Given the description of an element on the screen output the (x, y) to click on. 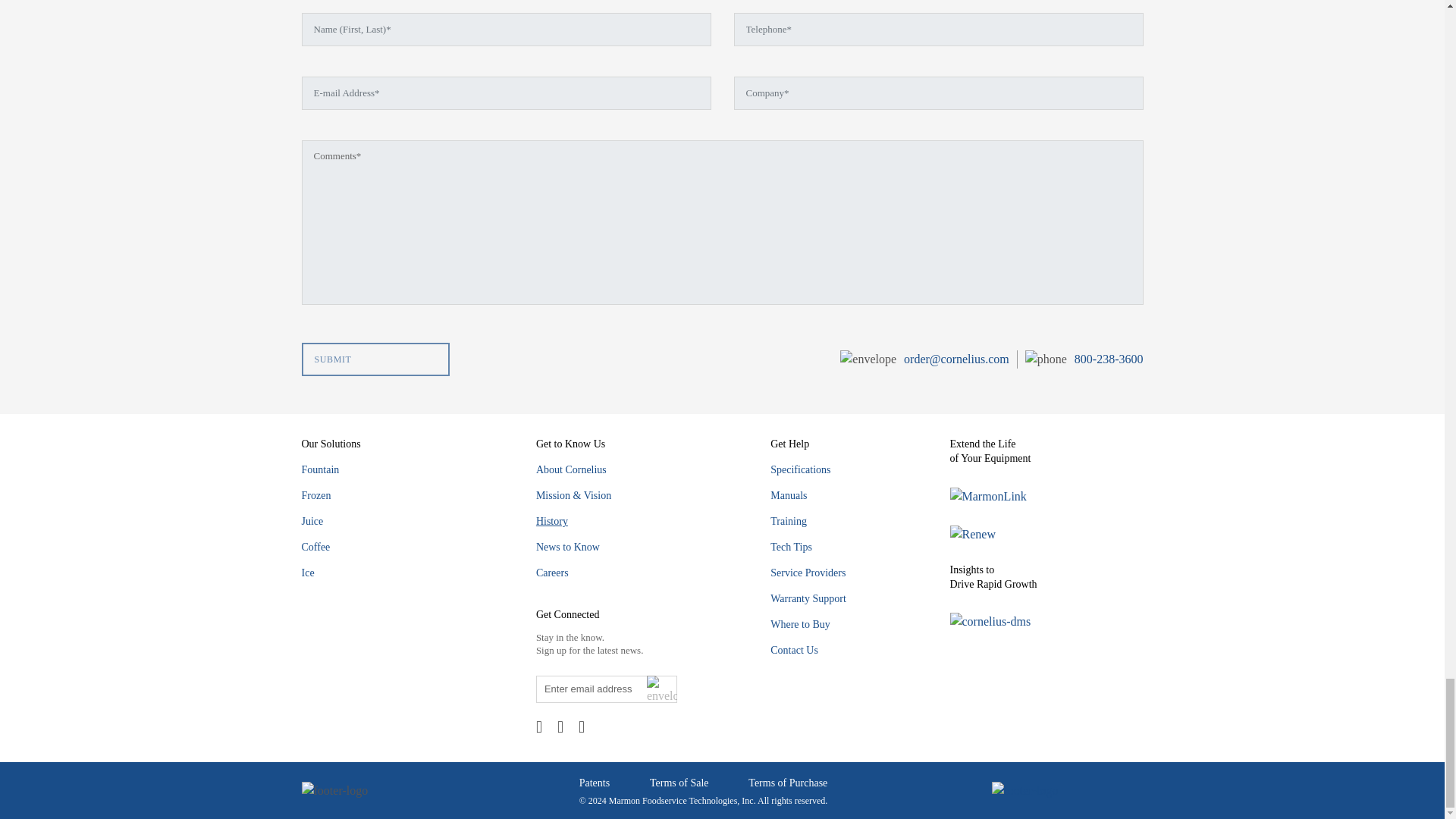
Submit (375, 359)
